Given the description of an element on the screen output the (x, y) to click on. 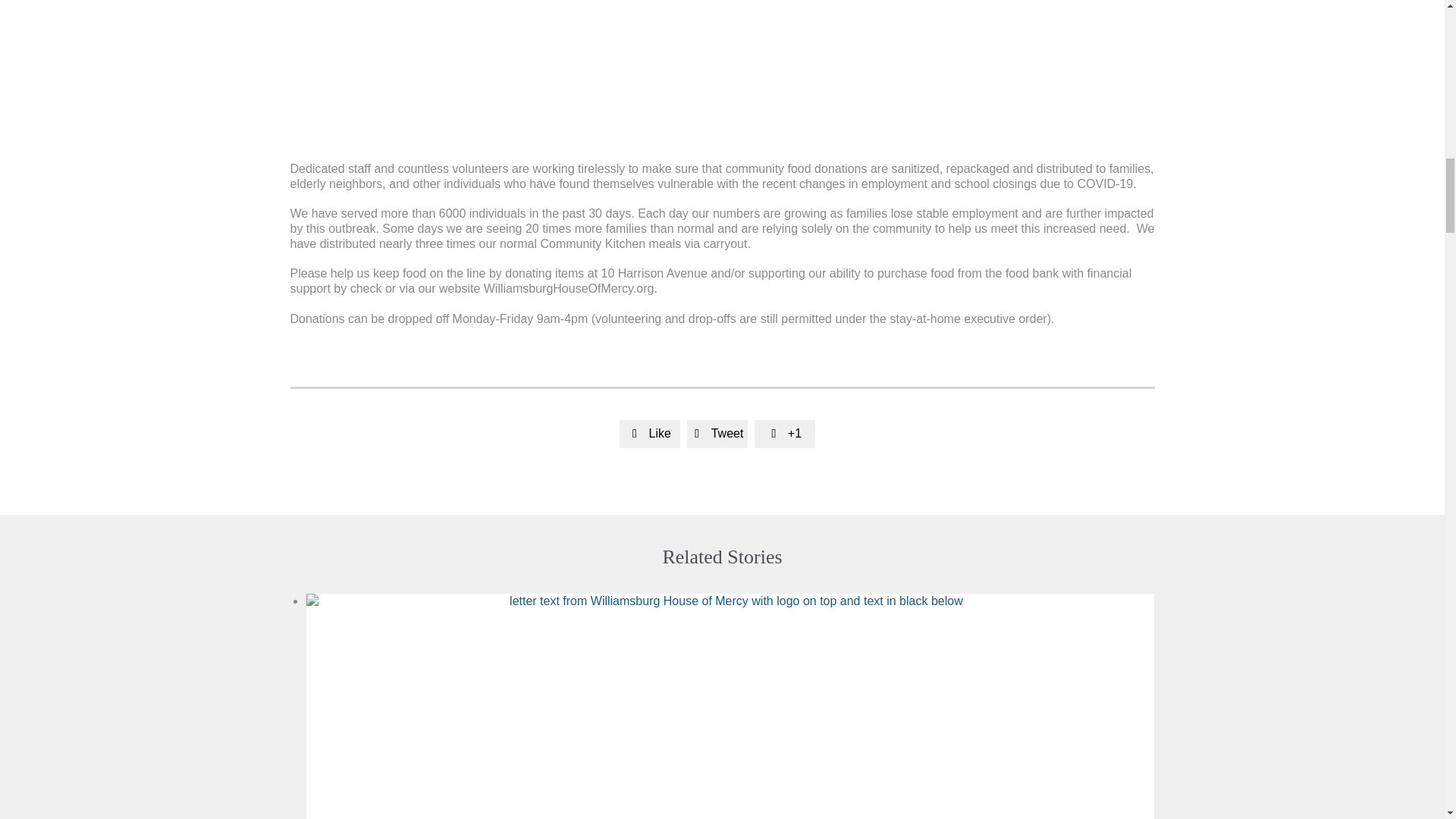
Share on Facebook (649, 433)
Share on Twitter (717, 433)
Share on Google Plus (784, 433)
